Given the description of an element on the screen output the (x, y) to click on. 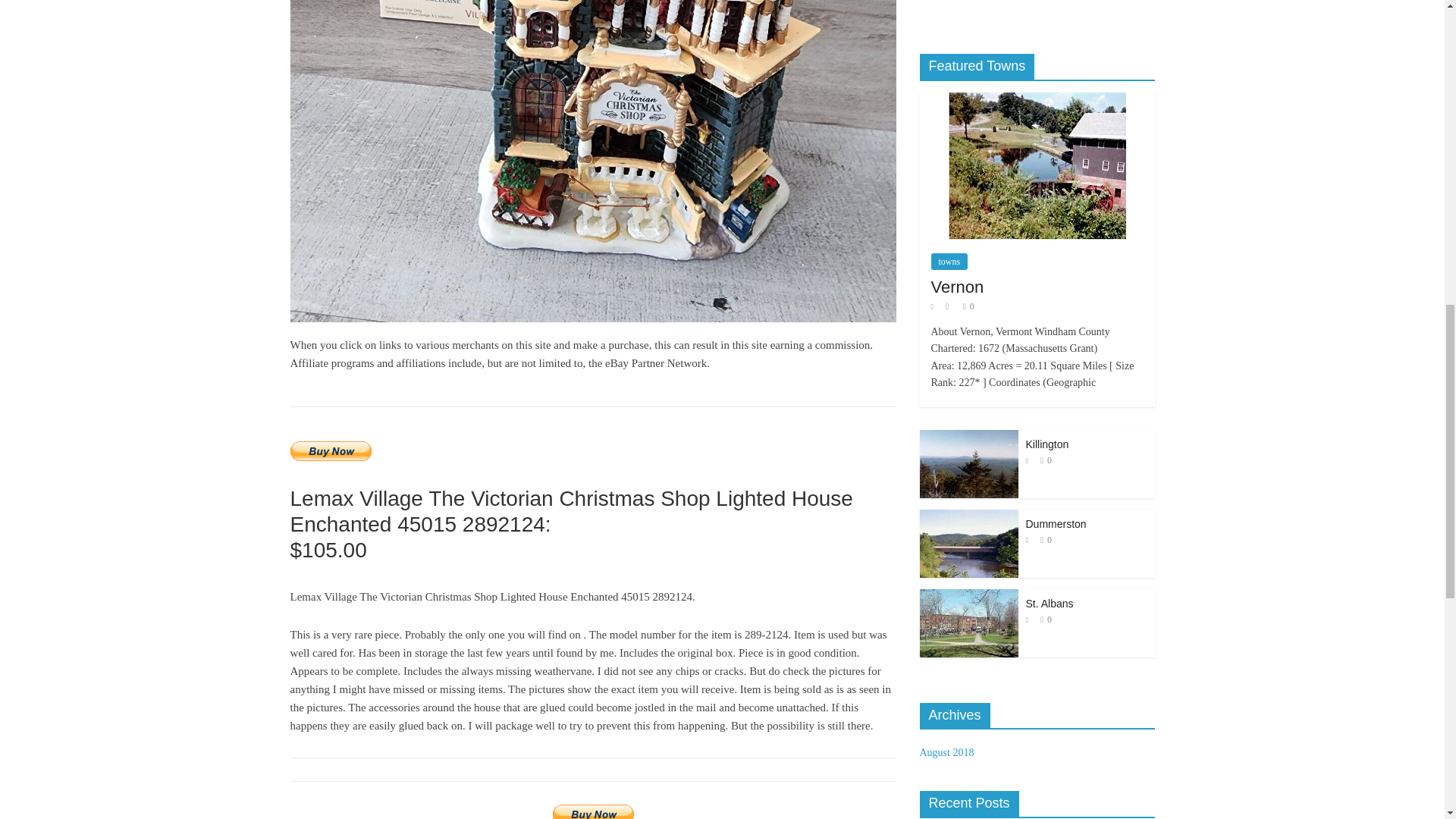
Buy Now (593, 811)
Buy Now (330, 451)
